Given the description of an element on the screen output the (x, y) to click on. 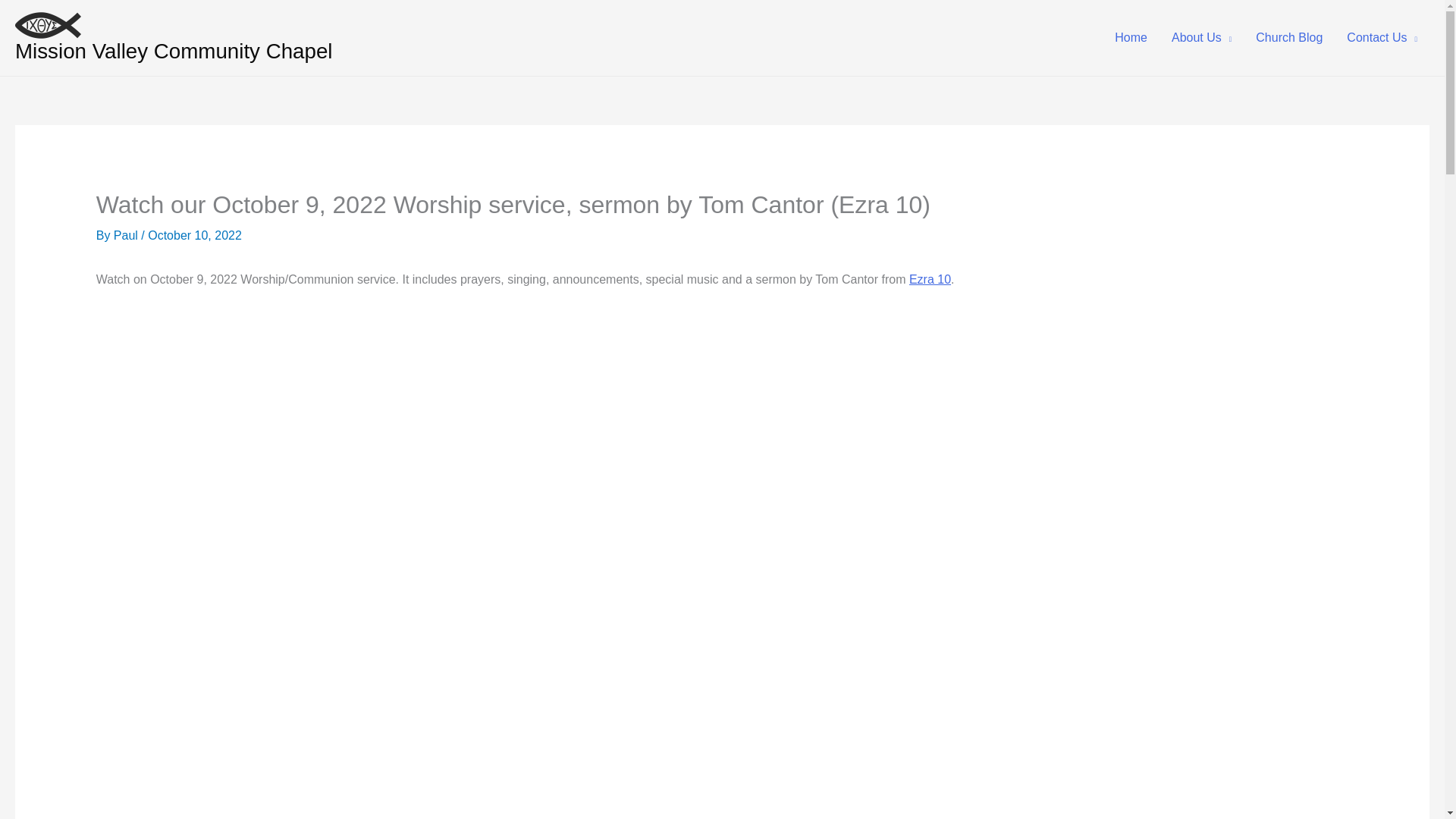
Paul (127, 235)
Home (1130, 37)
Contact Us (1382, 37)
About Us (1200, 37)
Church Blog (1289, 37)
Mission Valley Community Chapel (173, 51)
View all posts by Paul (127, 235)
Ezra 10 (929, 278)
